Given the description of an element on the screen output the (x, y) to click on. 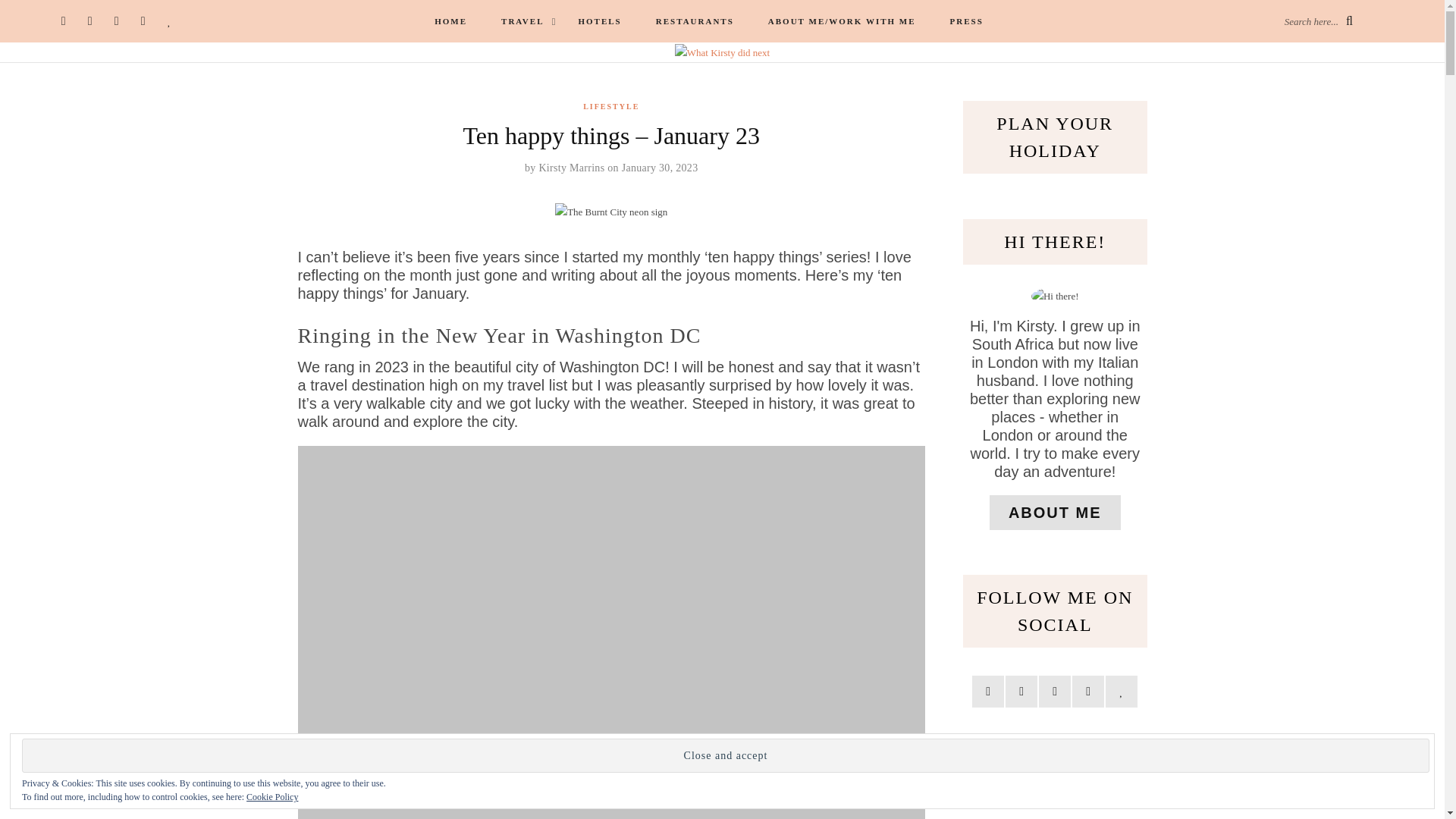
LIFESTYLE (611, 106)
Search here... (1318, 20)
Home (450, 21)
Close and accept (725, 755)
Travel (522, 21)
RESTAURANTS (695, 21)
HOME (450, 21)
TRAVEL (522, 21)
PRESS (966, 21)
Kirsty Marrins (571, 167)
HOTELS (598, 21)
